Given the description of an element on the screen output the (x, y) to click on. 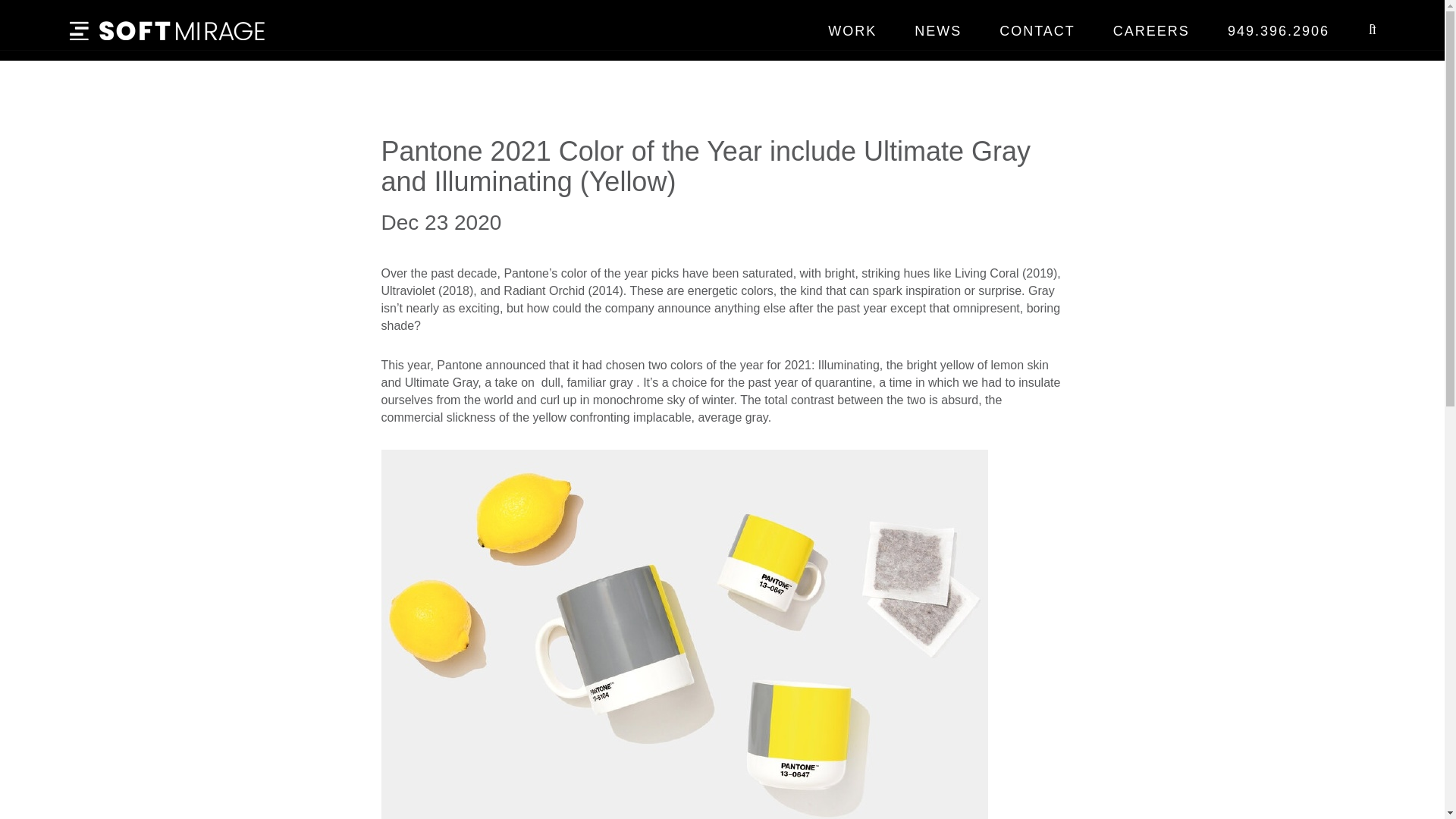
949.396.2906 (1277, 30)
CONTACT (1037, 30)
NEWS (937, 30)
WORK (852, 30)
CAREERS (1151, 30)
